Given the description of an element on the screen output the (x, y) to click on. 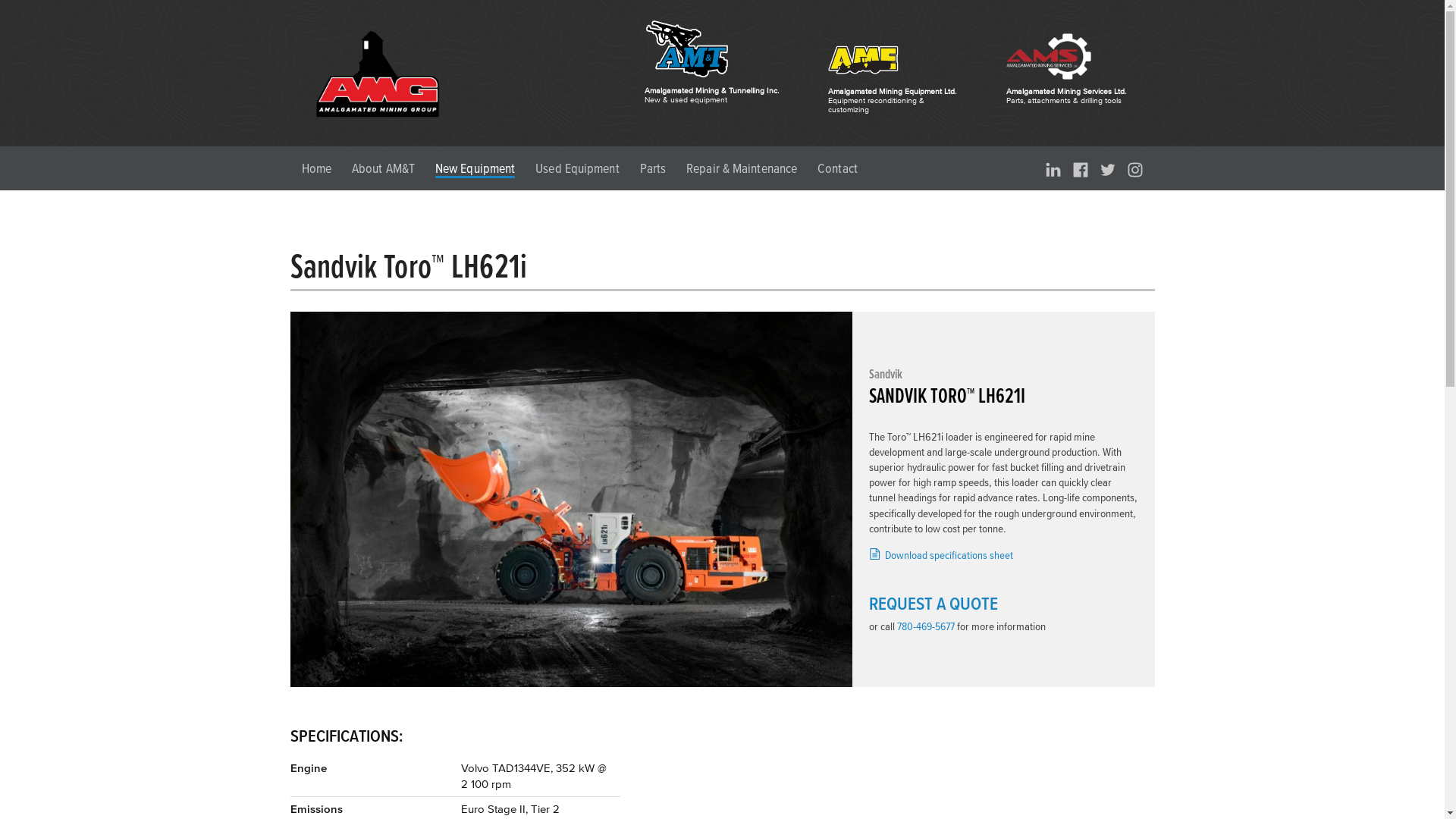
REQUEST A QUOTE Element type: text (933, 603)
About AM&T Element type: text (382, 167)
New Equipment Element type: text (474, 169)
Repair & Maintenance Element type: text (741, 167)
Parts Element type: text (653, 167)
Home Element type: text (316, 167)
Used Equipment Element type: text (576, 167)
Download specifications sheet Element type: text (941, 555)
780-469-5677 Element type: text (925, 625)
Amalgamated Mining & Tunnelling Inc.
New & used equipment Element type: text (696, 62)
Contact Element type: text (837, 167)
